Given the description of an element on the screen output the (x, y) to click on. 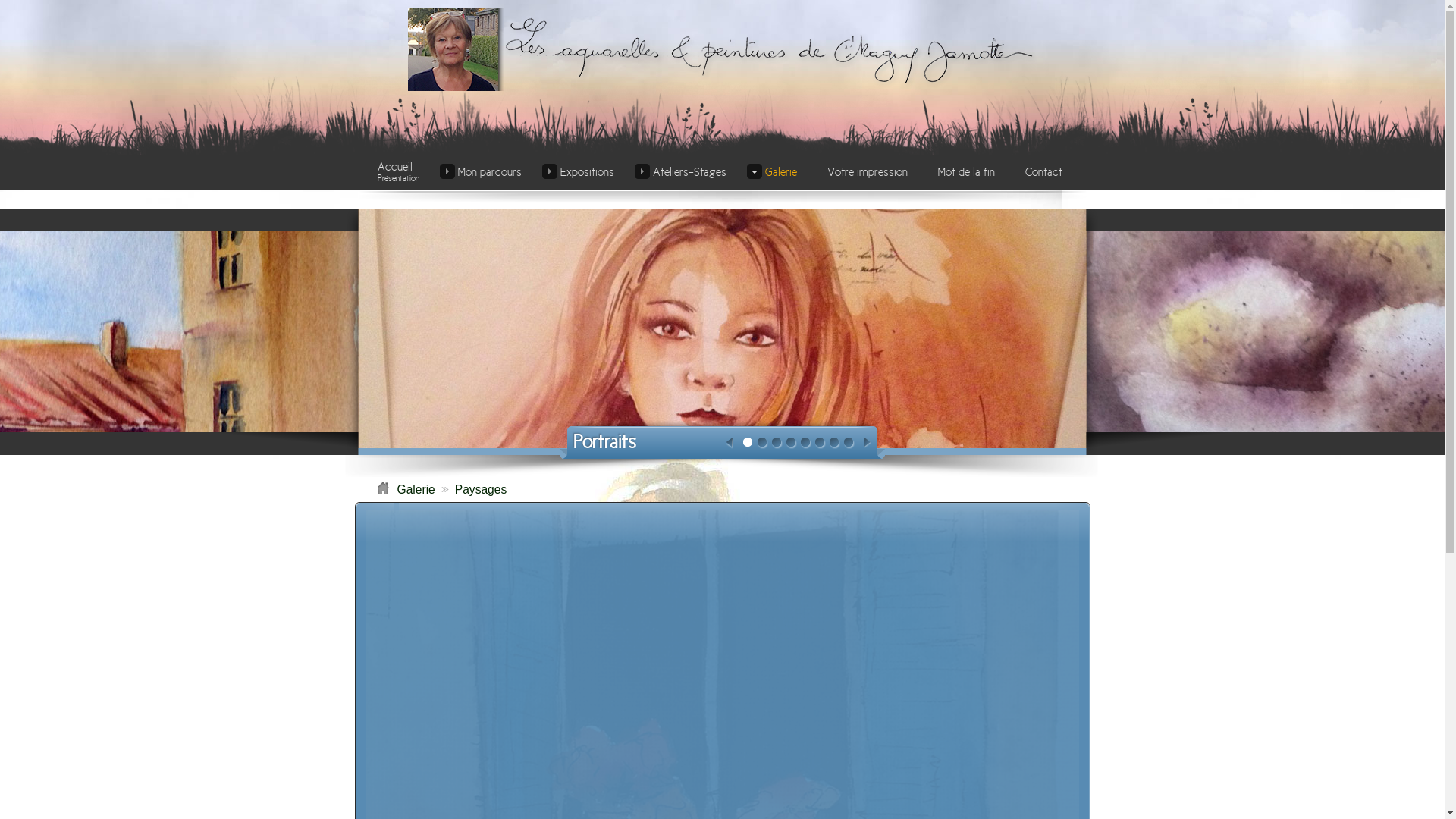
Contact Element type: text (1042, 170)
Mot de la fin Element type: text (966, 170)
Portraits Element type: text (604, 441)
Votre impression Element type: text (867, 170)
RETOUR EN HAUT Element type: text (721, 732)
presencenet.be Element type: text (798, 755)
